Given the description of an element on the screen output the (x, y) to click on. 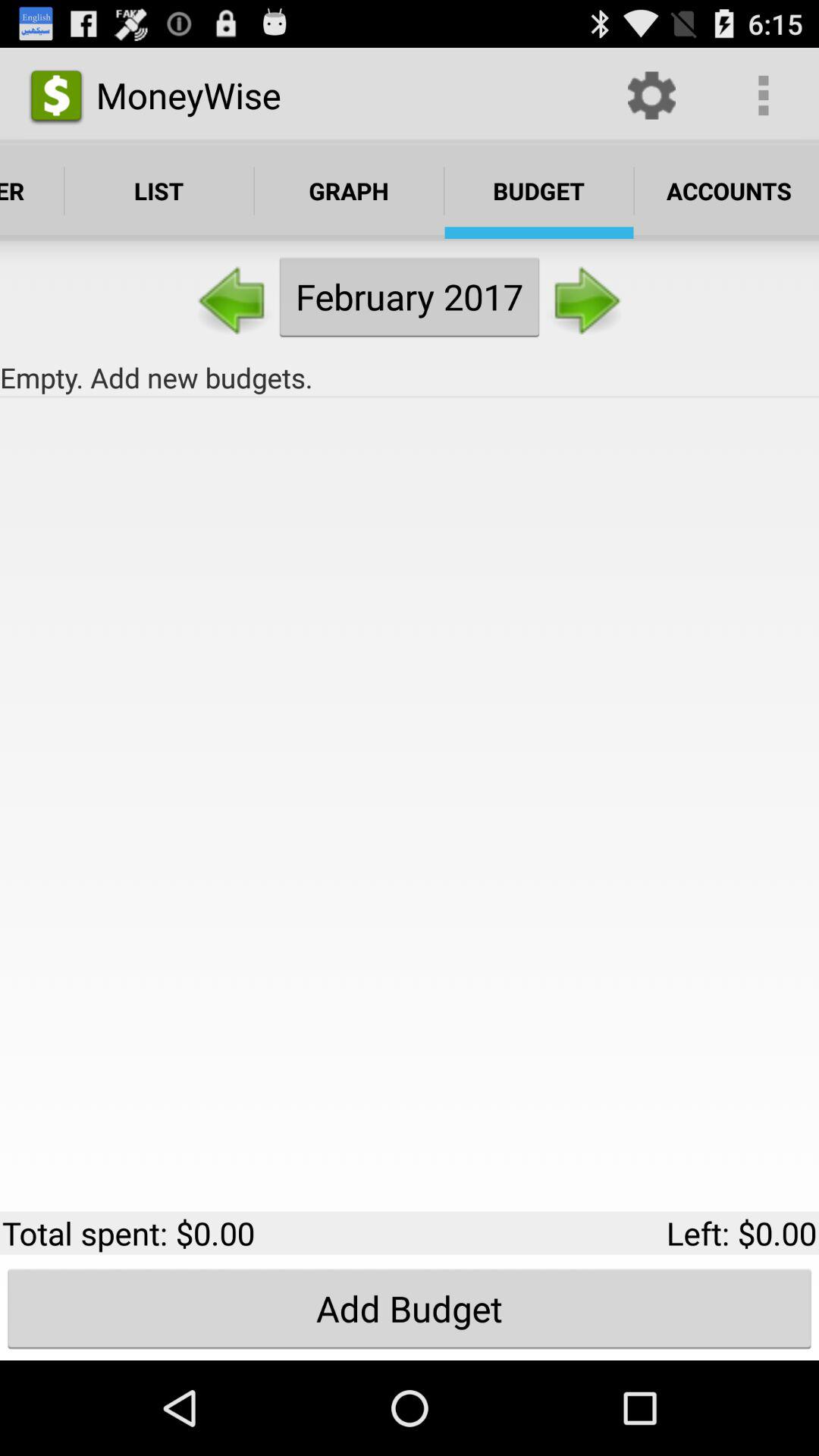
tap item next to the february 2017 button (584, 296)
